Given the description of an element on the screen output the (x, y) to click on. 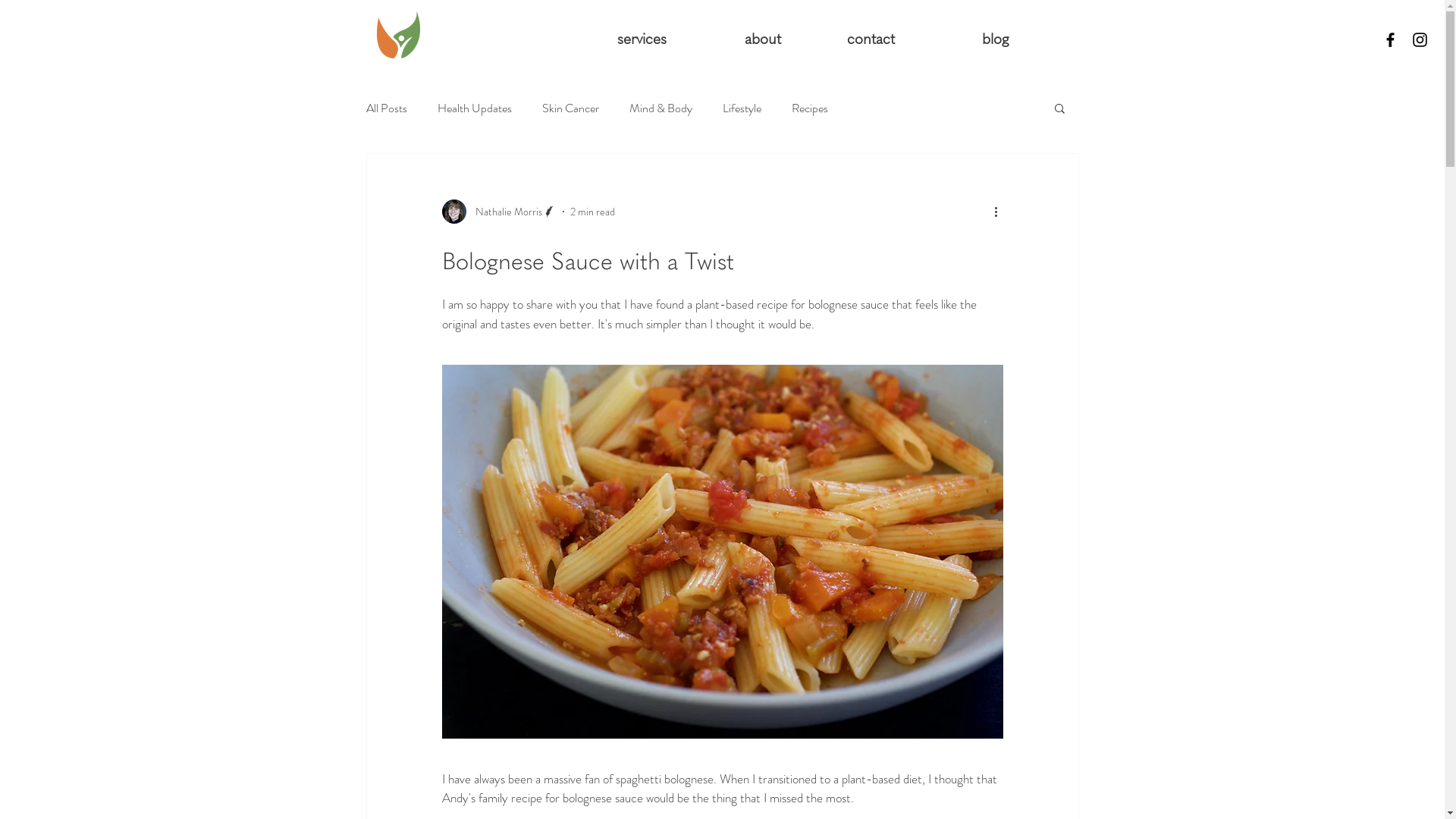
Recipes Element type: text (809, 107)
blog Element type: text (962, 38)
Health Updates Element type: text (473, 107)
services Element type: text (619, 38)
about Element type: text (734, 38)
All Posts Element type: text (385, 107)
Skin Cancer Element type: text (569, 107)
Mind & Body Element type: text (660, 107)
contact Element type: text (848, 38)
Lifestyle Element type: text (740, 107)
